Given the description of an element on the screen output the (x, y) to click on. 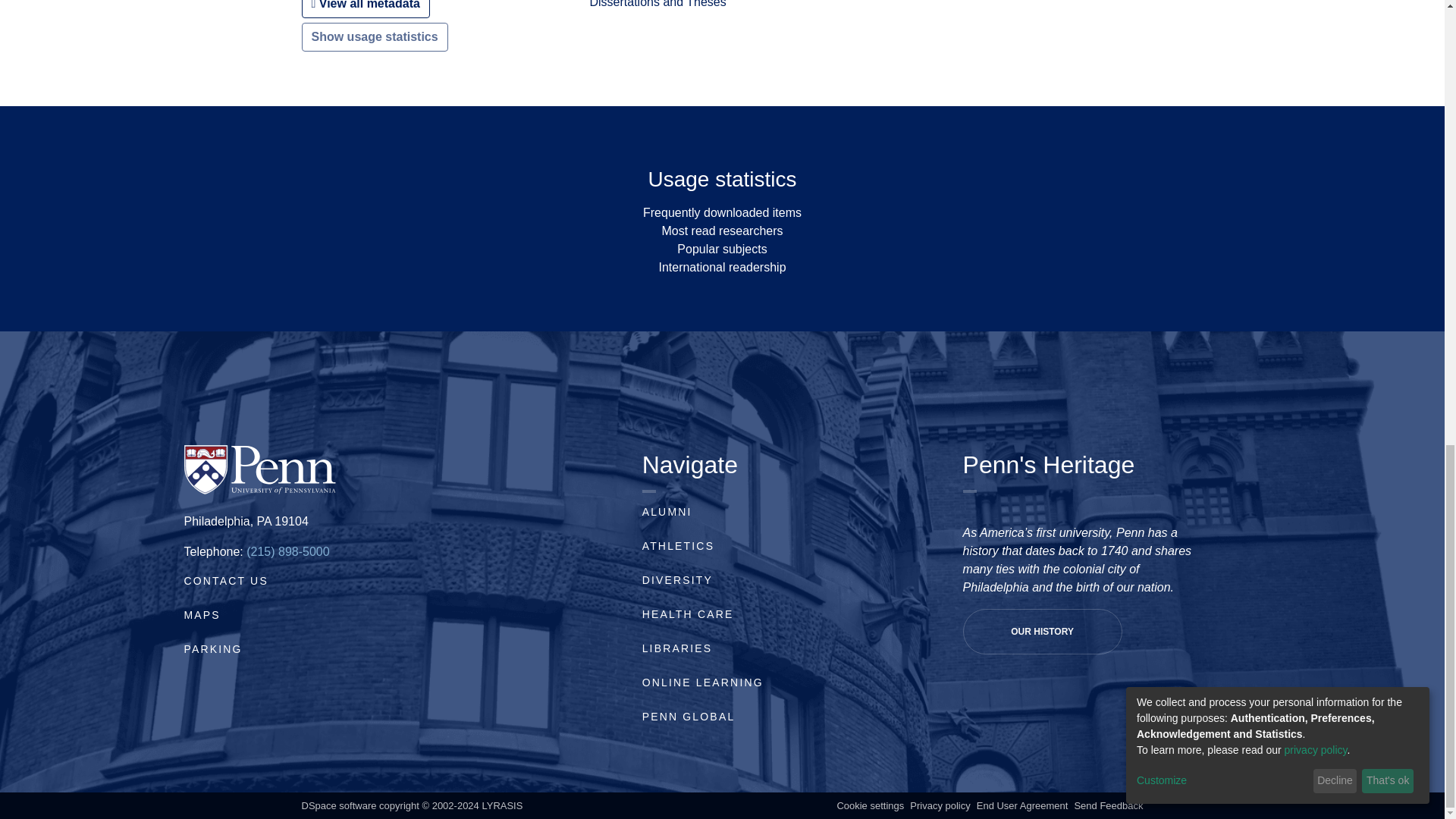
Frequently downloaded items (722, 212)
Frequently downloaded items (722, 212)
LIBRARIES (677, 648)
End User Agreement (1022, 805)
Send Feedback (1108, 805)
Privacy policy (939, 805)
Most read researchers (722, 230)
ATHLETICS (678, 545)
Popular subjects (722, 248)
View all metadata (365, 9)
DIVERSITY (677, 580)
Dissertations and Theses (657, 4)
MAPS (201, 614)
HEALTH CARE (687, 613)
Cookie settings (869, 805)
